Given the description of an element on the screen output the (x, y) to click on. 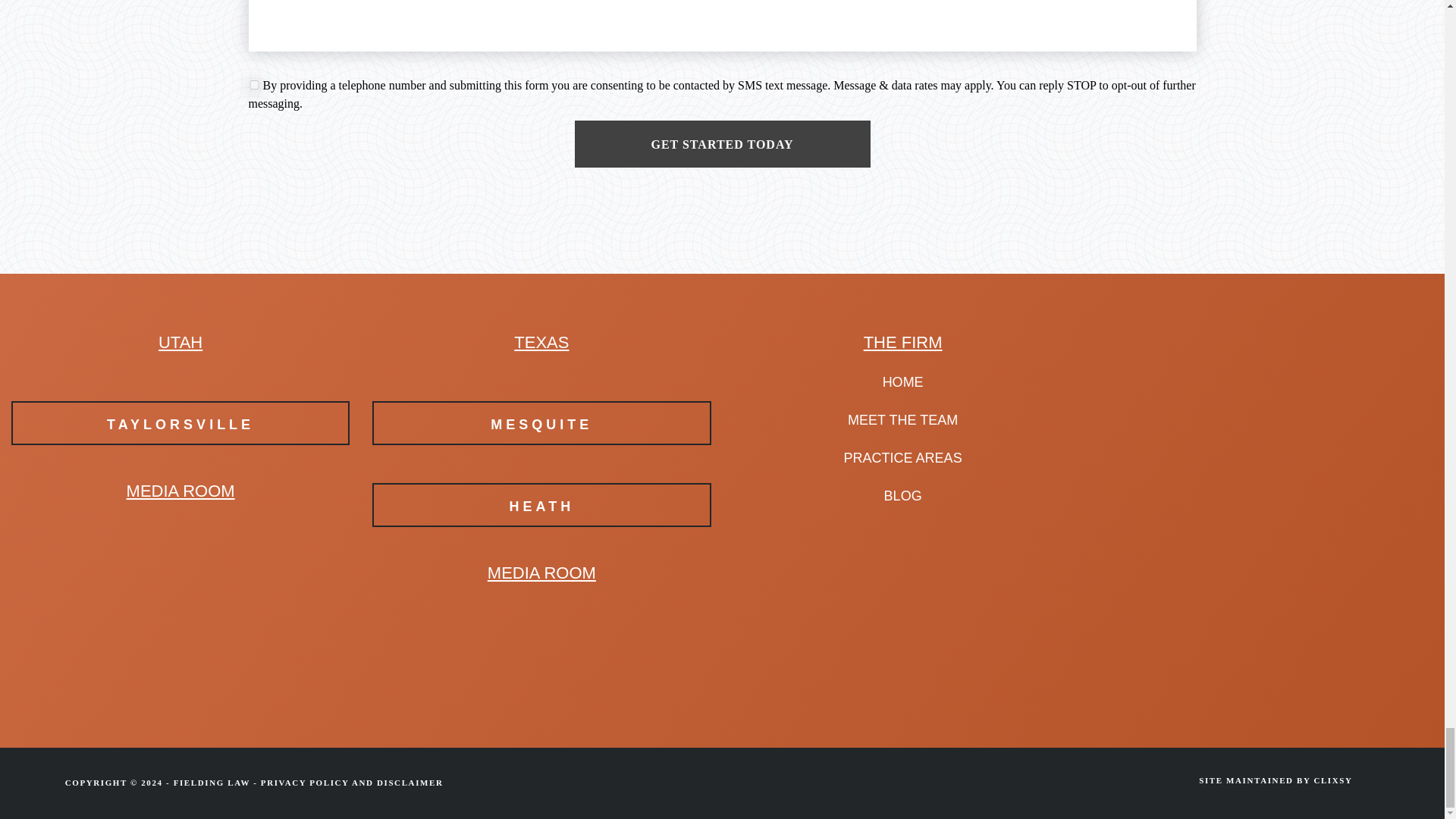
UTAH (180, 342)
GET STARTED TODAY (722, 143)
Clixsy (1332, 779)
GET STARTED TODAY (722, 143)
